Given the description of an element on the screen output the (x, y) to click on. 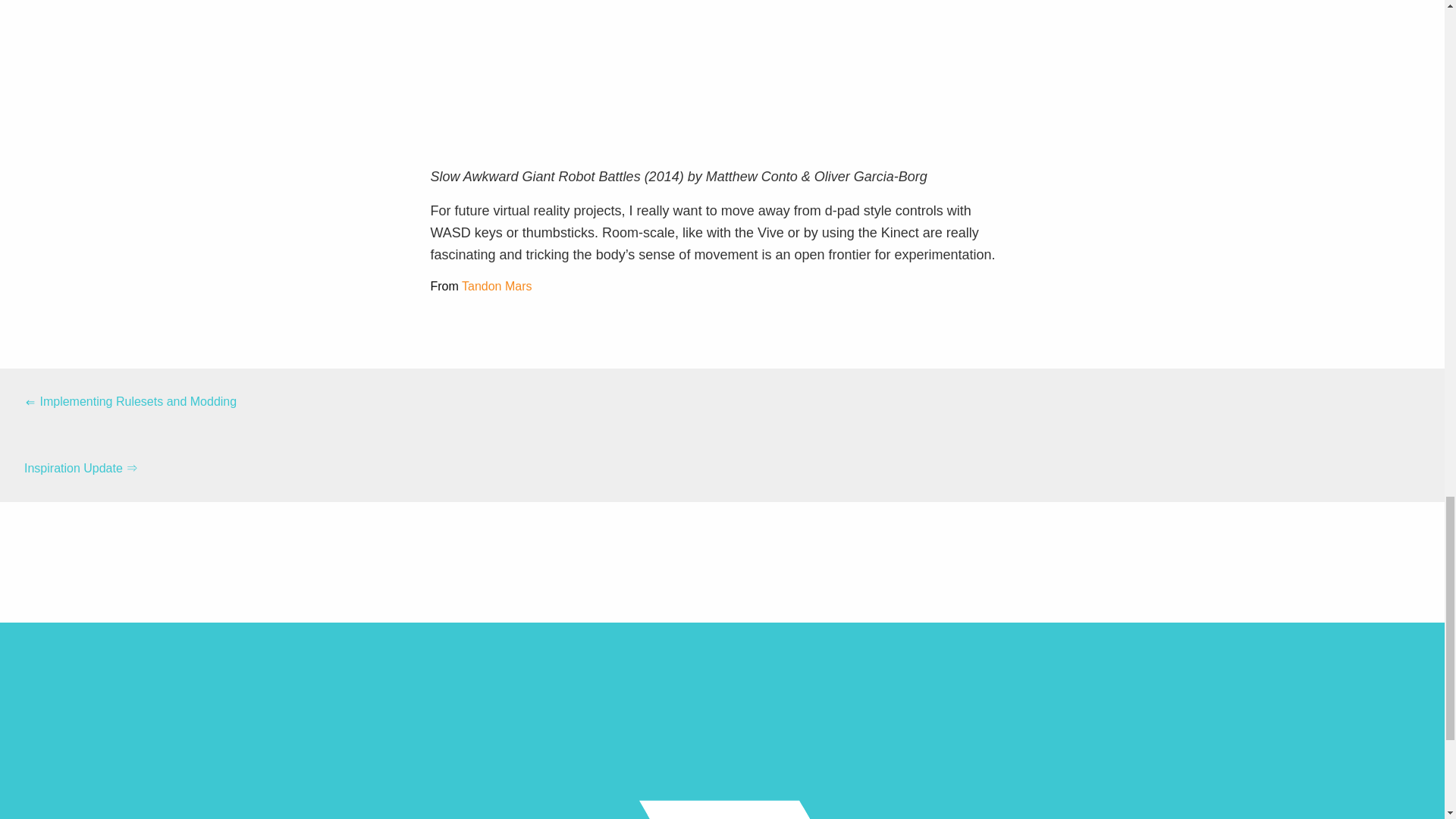
Tandon Mars (496, 286)
